Given the description of an element on the screen output the (x, y) to click on. 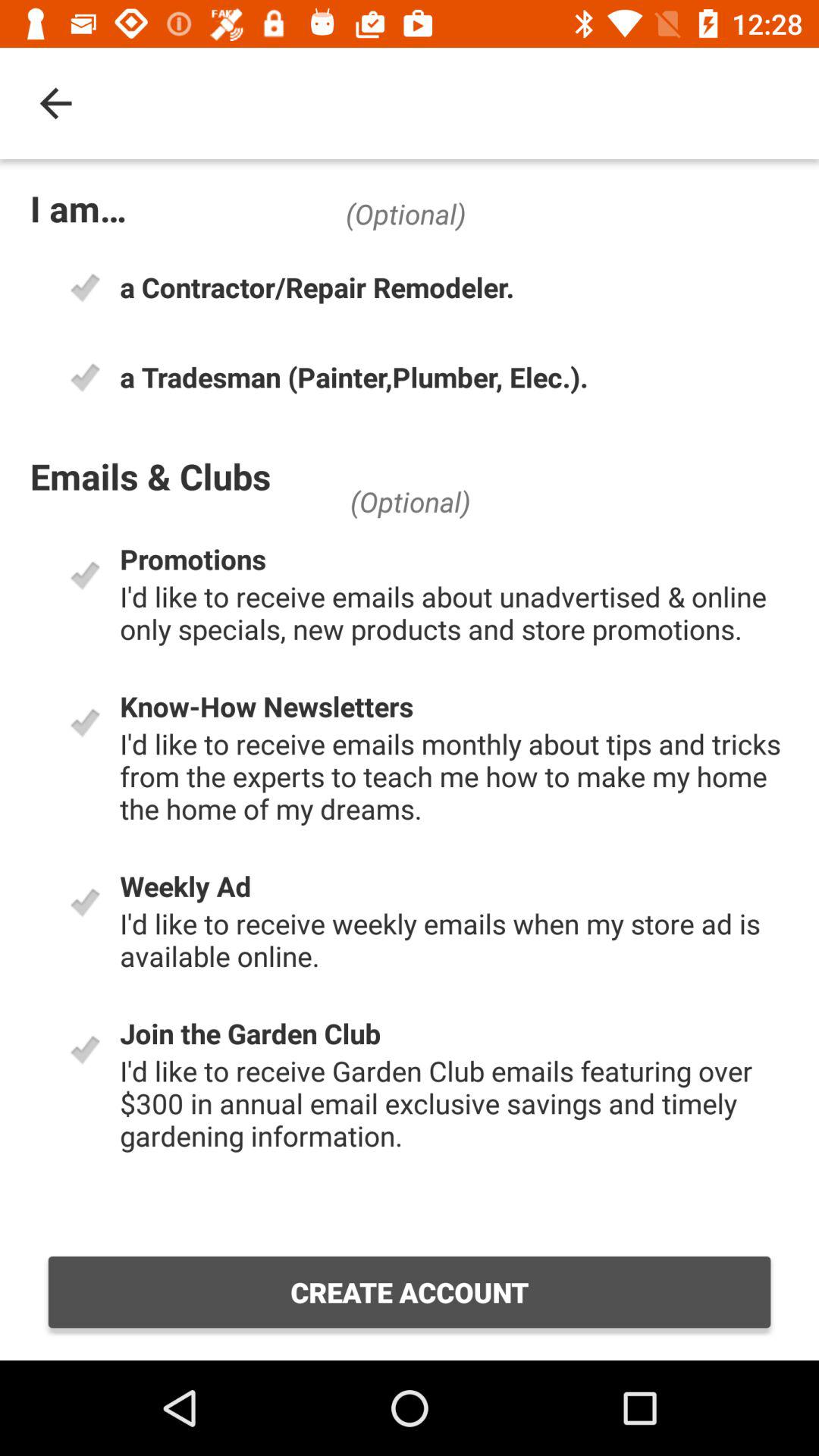
scroll to the create account (409, 1291)
